Given the description of an element on the screen output the (x, y) to click on. 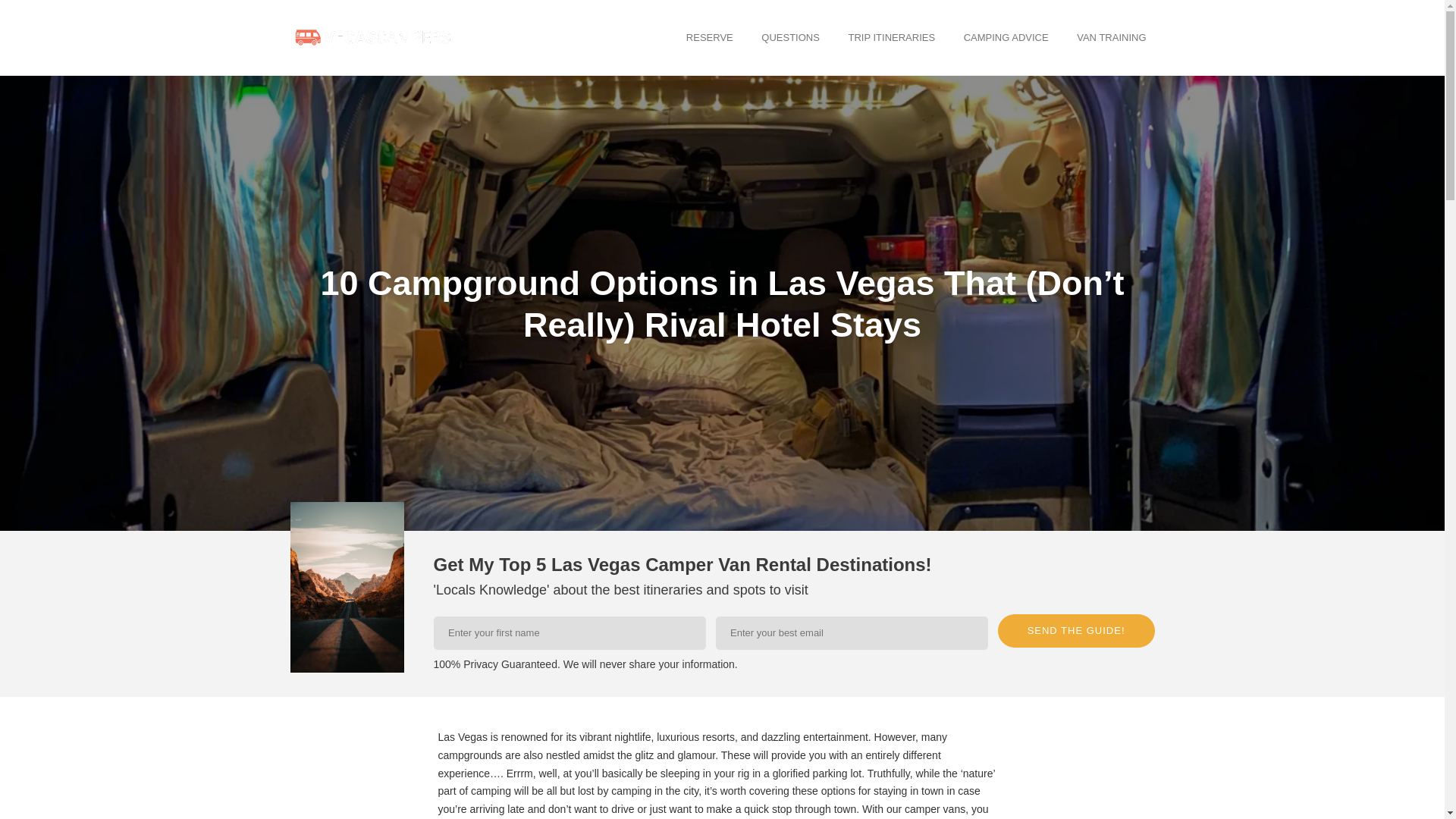
SEND THE GUIDE! (1075, 630)
VAN TRAINING (1111, 36)
TRIP ITINERARIES (891, 36)
RESERVE (709, 36)
QUESTIONS (790, 36)
CAMPING ADVICE (1006, 36)
